Given the description of an element on the screen output the (x, y) to click on. 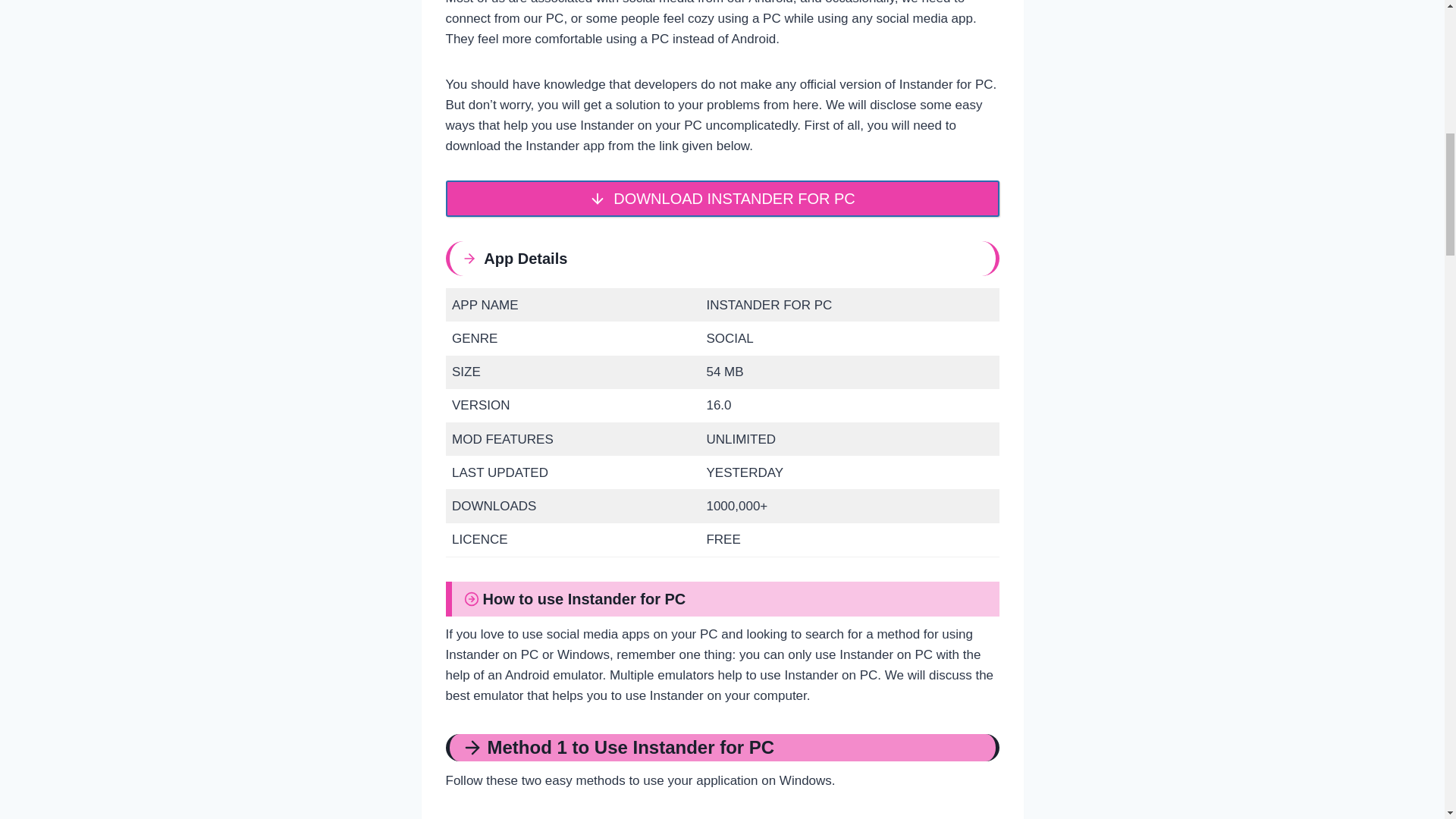
DOWNLOAD INSTANDER FOR PC (721, 198)
